Given the description of an element on the screen output the (x, y) to click on. 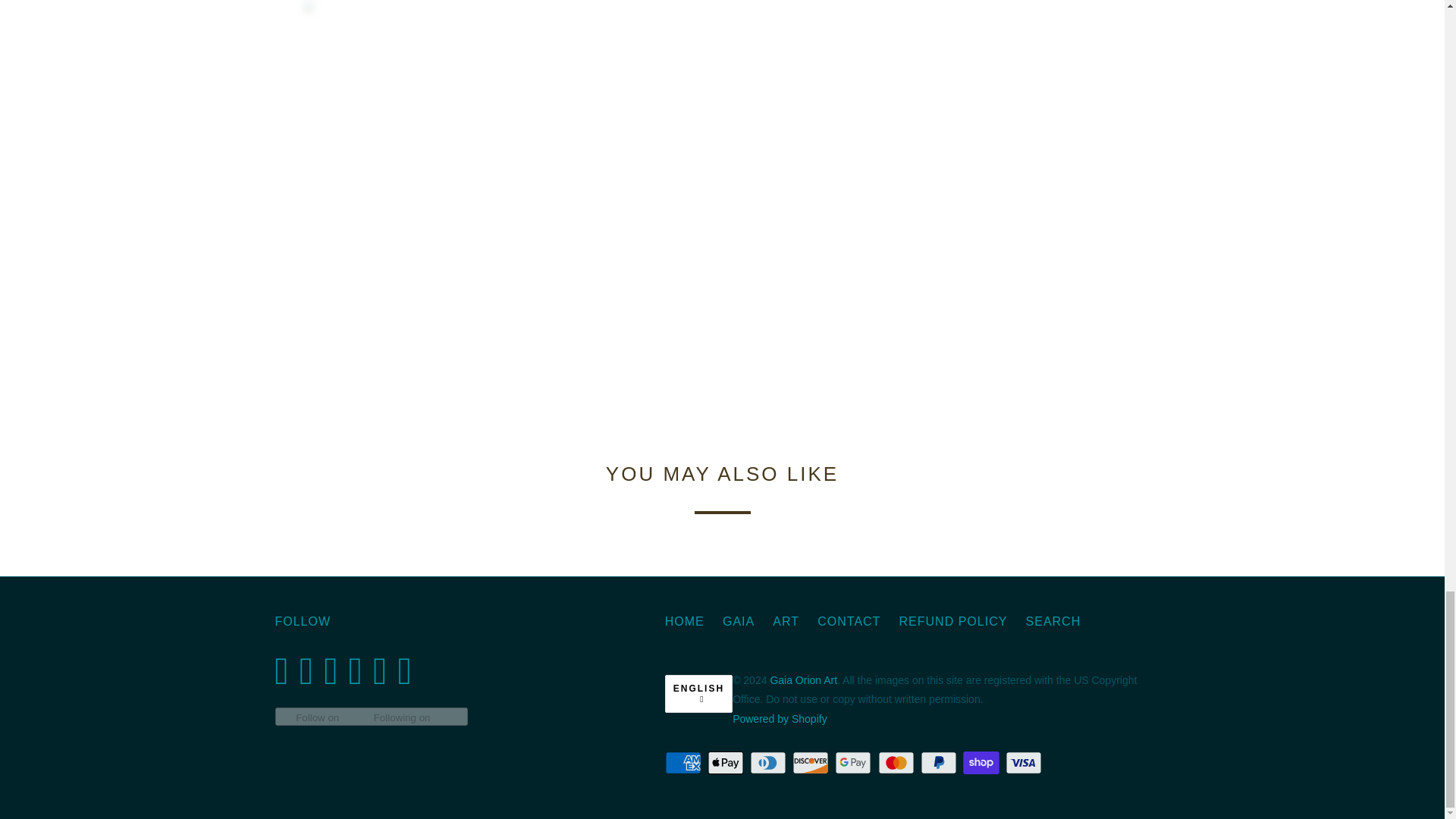
Mastercard (897, 762)
Google Pay (854, 762)
Apple Pay (726, 762)
American Express (684, 762)
Discover (811, 762)
PayPal (939, 762)
Visa (1025, 762)
Diners Club (769, 762)
Shop Pay (982, 762)
